Given the description of an element on the screen output the (x, y) to click on. 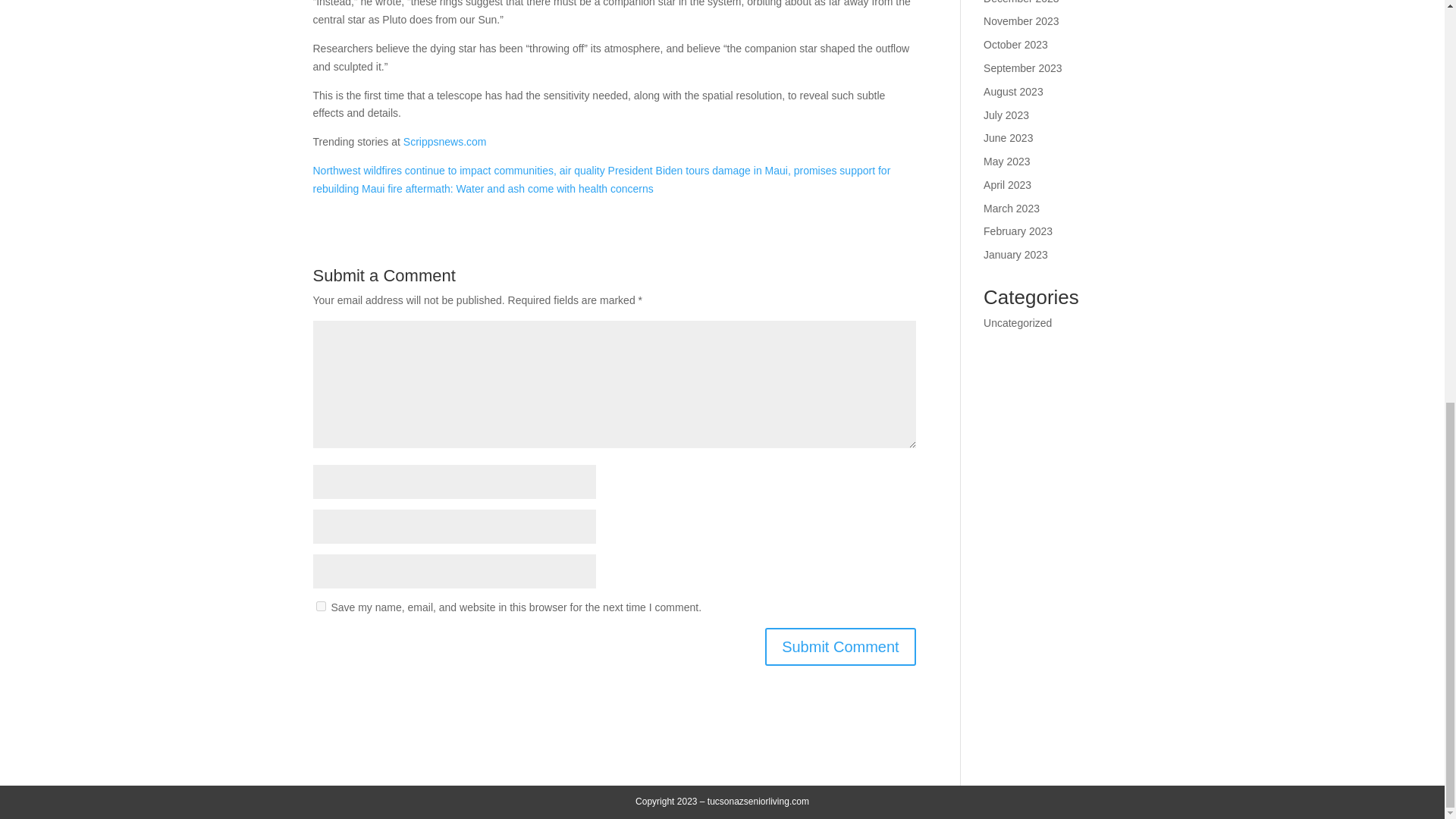
March 2023 (1011, 208)
August 2023 (1013, 91)
June 2023 (1008, 137)
December 2023 (1021, 2)
May 2023 (1006, 161)
Submit Comment (840, 646)
April 2023 (1007, 184)
Scrippsnews.com (444, 141)
January 2023 (1016, 254)
